Given the description of an element on the screen output the (x, y) to click on. 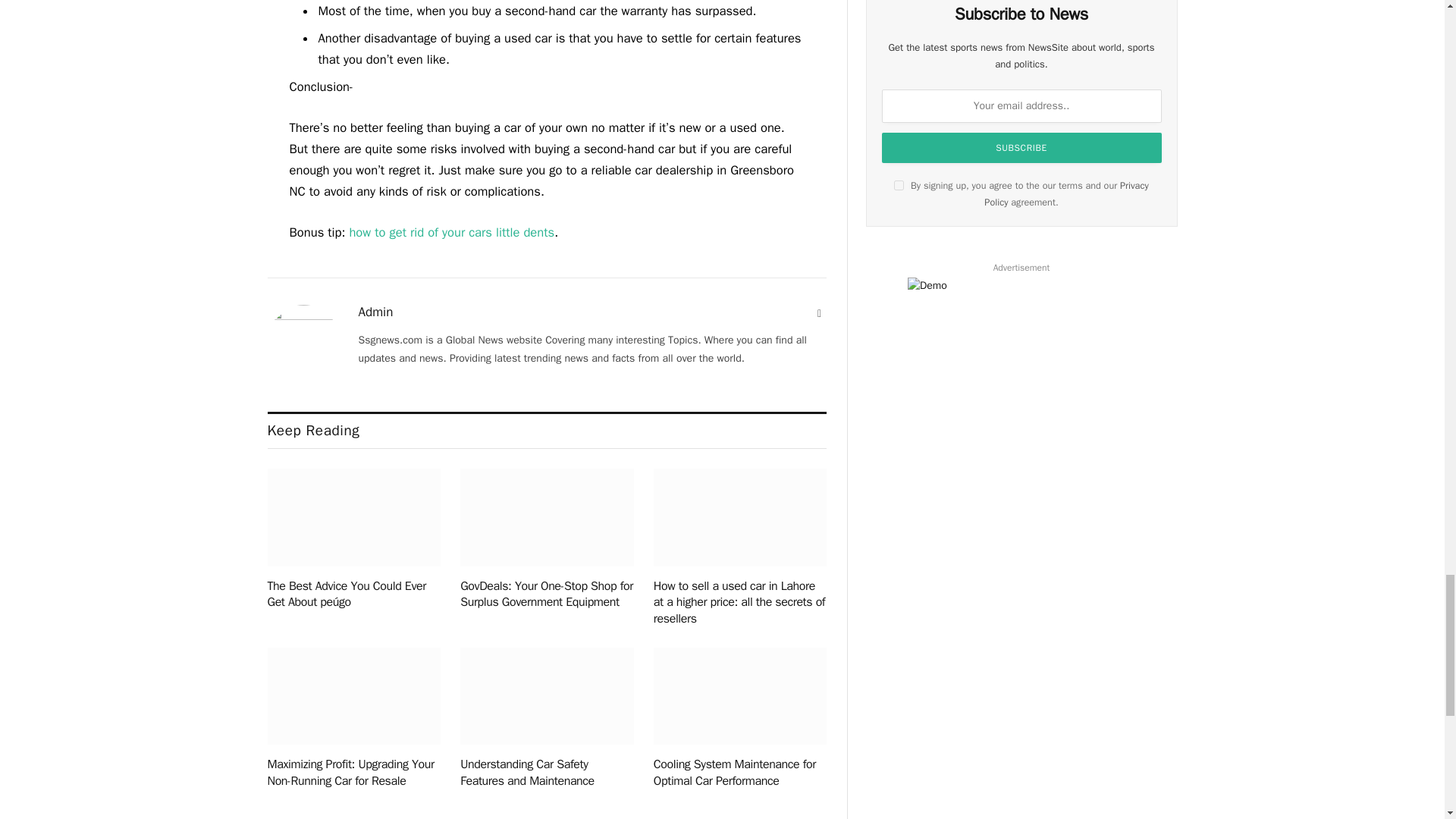
Website (818, 313)
on (898, 185)
Subscribe (1021, 147)
Posts by Admin (375, 312)
